Given the description of an element on the screen output the (x, y) to click on. 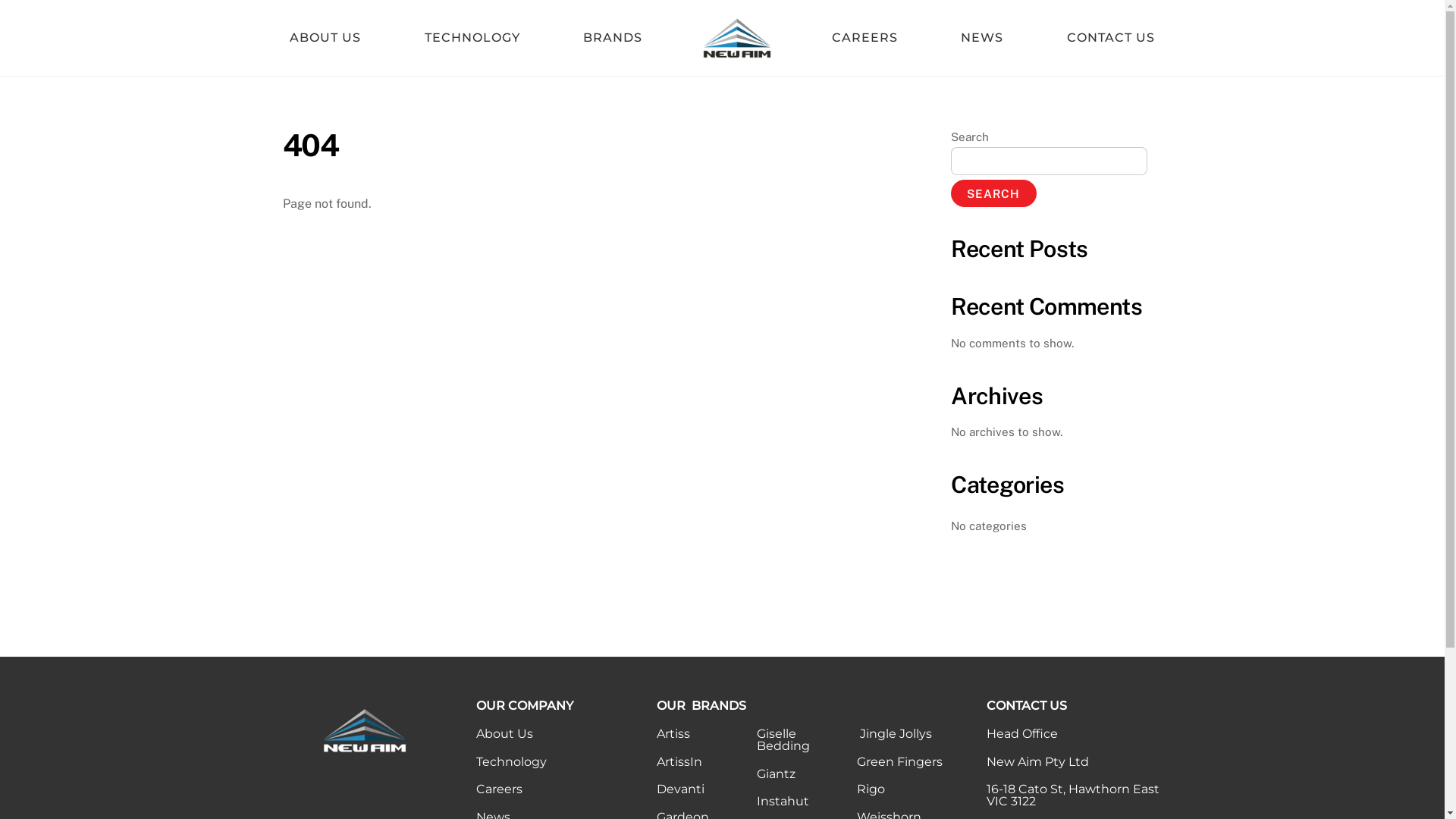
CONTACT US Element type: text (1110, 37)
Devanti Element type: text (680, 788)
TECHNOLOGY Element type: text (472, 37)
BRANDS Element type: text (612, 37)
ABOUT US Element type: text (324, 37)
Jingle Jollys Element type: text (895, 733)
SEARCH Element type: text (992, 192)
Instahut Element type: text (782, 800)
About Us Element type: text (504, 733)
Green Fingers Element type: text (899, 761)
Rigo Element type: text (870, 788)
CAREERS Element type: text (864, 37)
NEWS Element type: text (981, 37)
ArtissIn Element type: text (679, 761)
Giantz Element type: text (775, 773)
Logo_footer Element type: hover (364, 729)
Artiss Element type: text (673, 733)
Technology Element type: text (511, 761)
New Aim Pty Ltd Element type: hover (736, 37)
Giselle Bedding Element type: text (782, 739)
Careers Element type: text (499, 788)
